Given the description of an element on the screen output the (x, y) to click on. 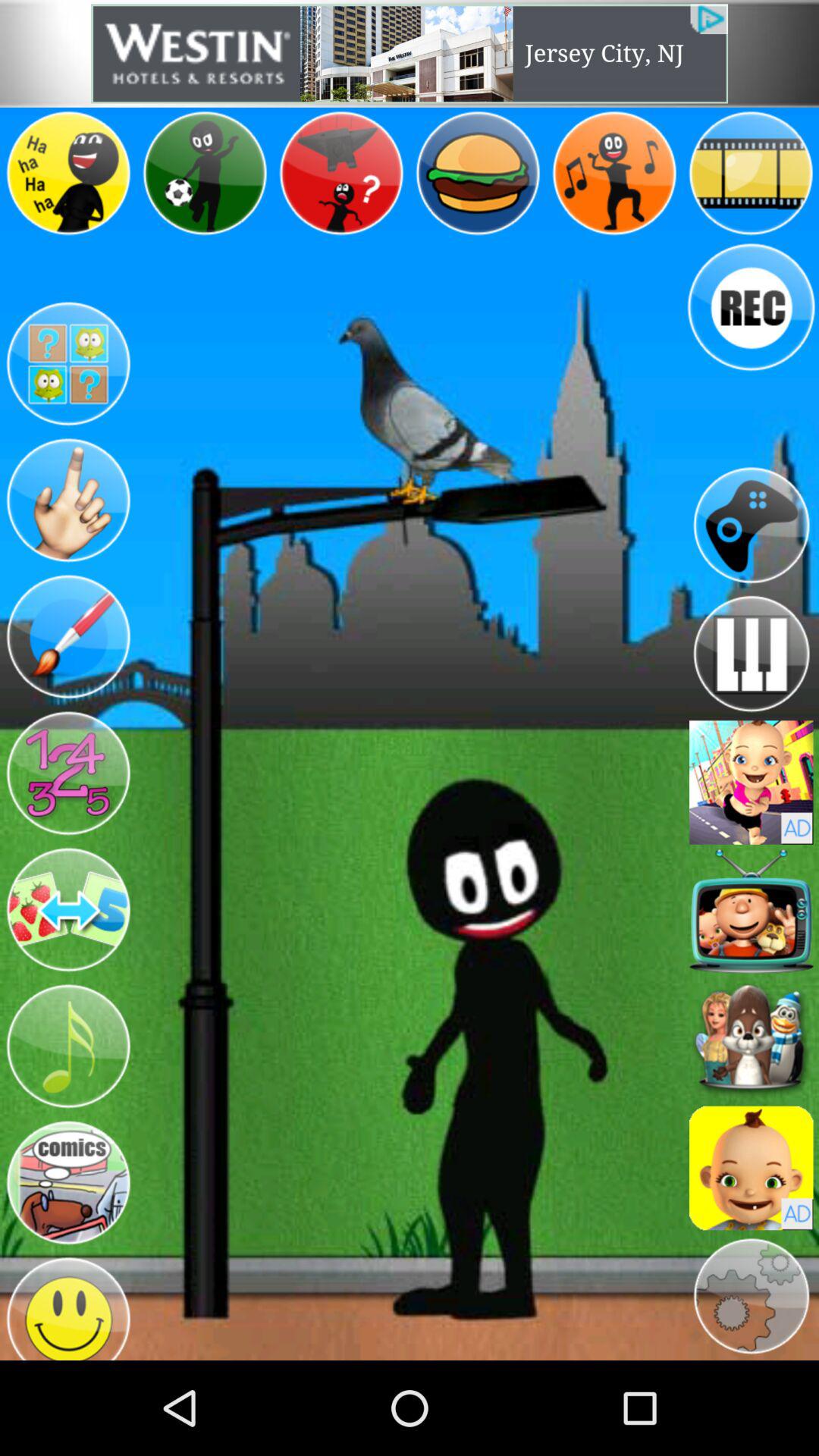
open paintbrush (68, 636)
